Given the description of an element on the screen output the (x, y) to click on. 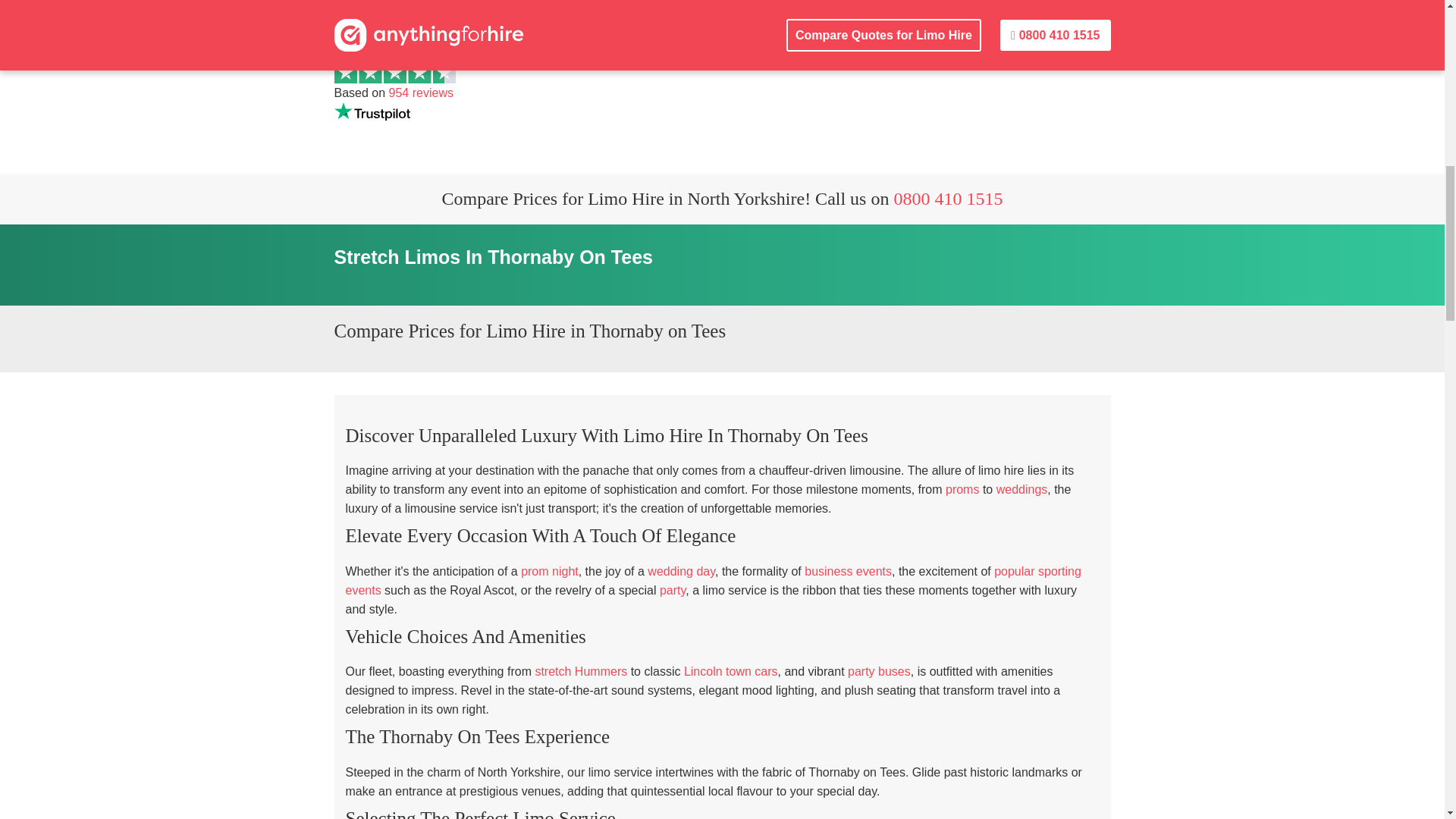
954 reviews (420, 92)
Read more (420, 92)
party (672, 590)
Anything for Hire trustpilot (371, 111)
weddings (1021, 489)
stretch Hummers (580, 671)
popular sporting events (713, 581)
wedding day (680, 571)
party buses (879, 671)
proms (961, 489)
